Given the description of an element on the screen output the (x, y) to click on. 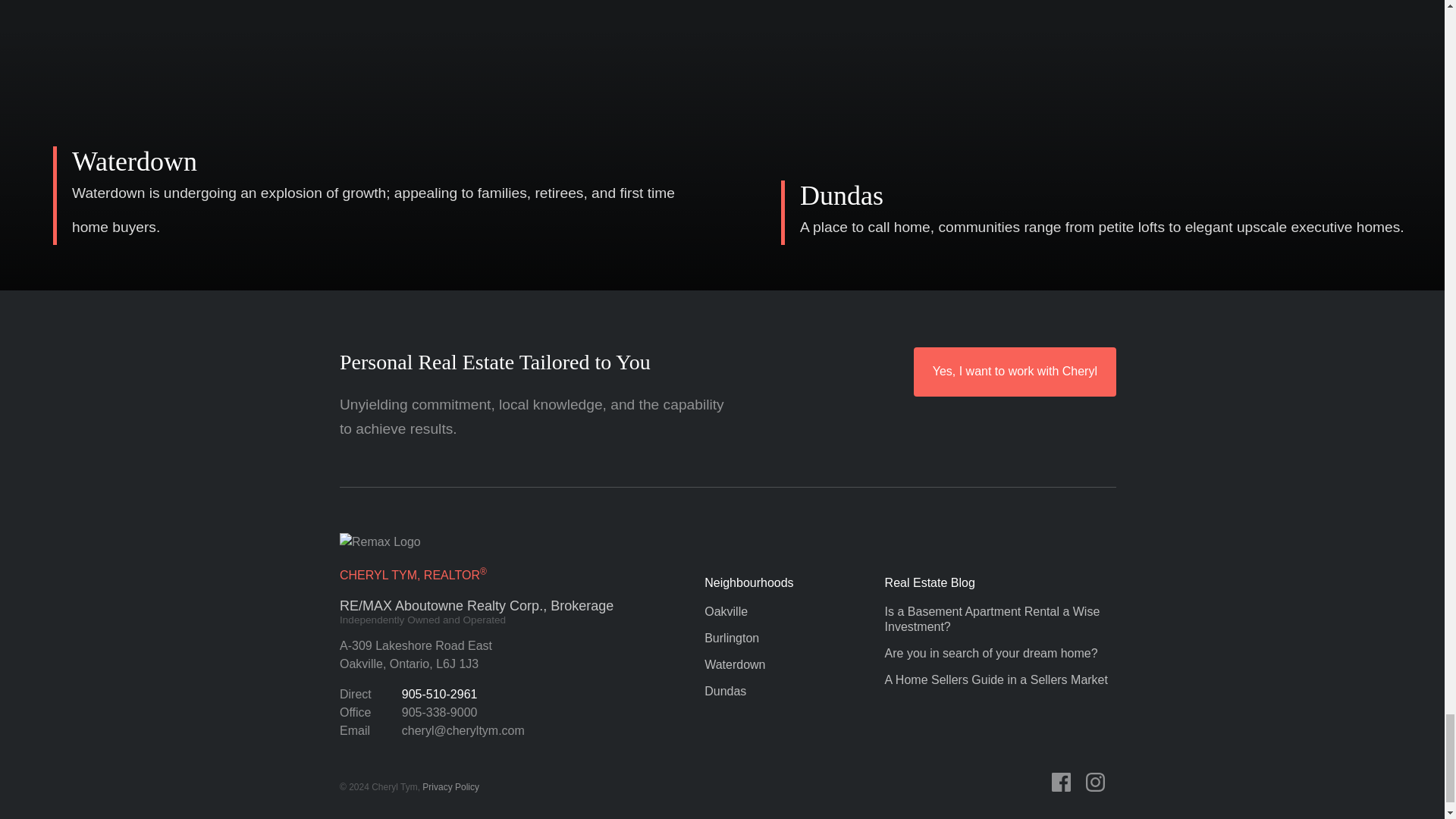
Instagram (1101, 782)
Email (415, 655)
Privacy Policy (462, 730)
905-338-9000 (450, 787)
Facebook (439, 712)
Office Phone (1066, 782)
Waterdown (439, 712)
A Home Sellers Guide in a Sellers Market (748, 664)
